Given the description of an element on the screen output the (x, y) to click on. 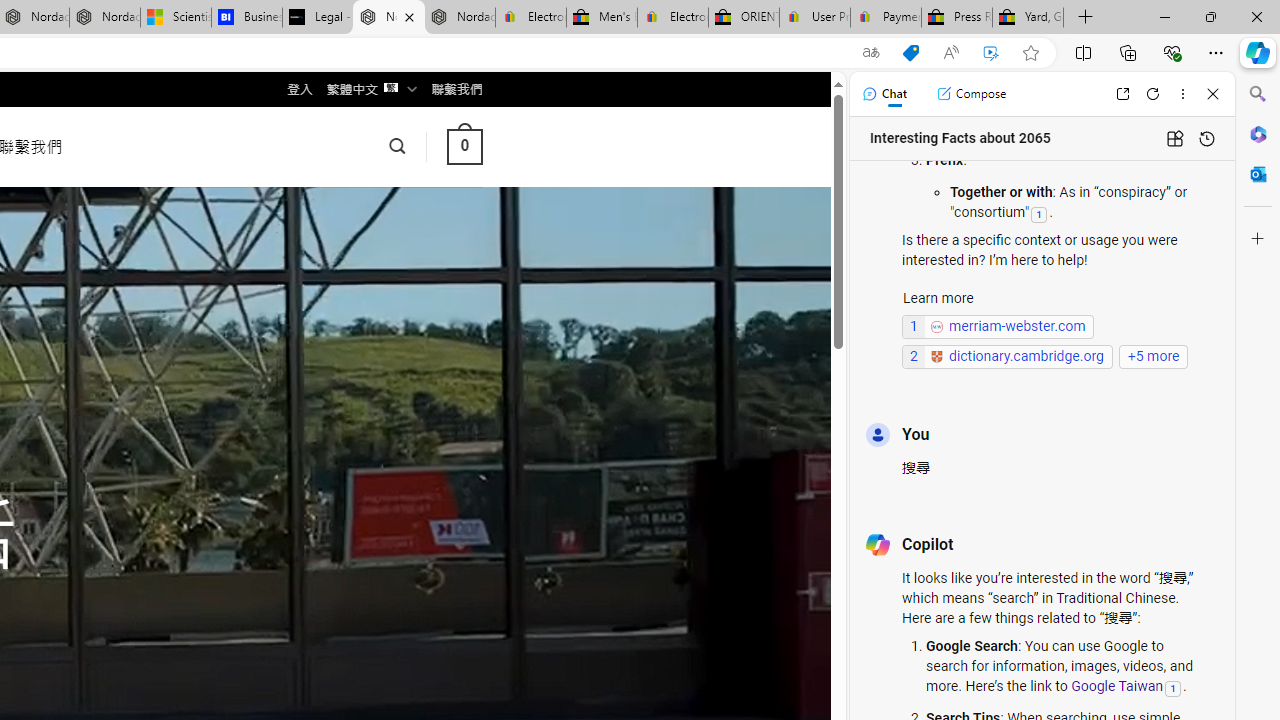
Show translate options (870, 53)
  0   (464, 146)
Yard, Garden & Outdoor Living (1028, 17)
Nordace - Summer Adventures 2024 (104, 17)
